Given the description of an element on the screen output the (x, y) to click on. 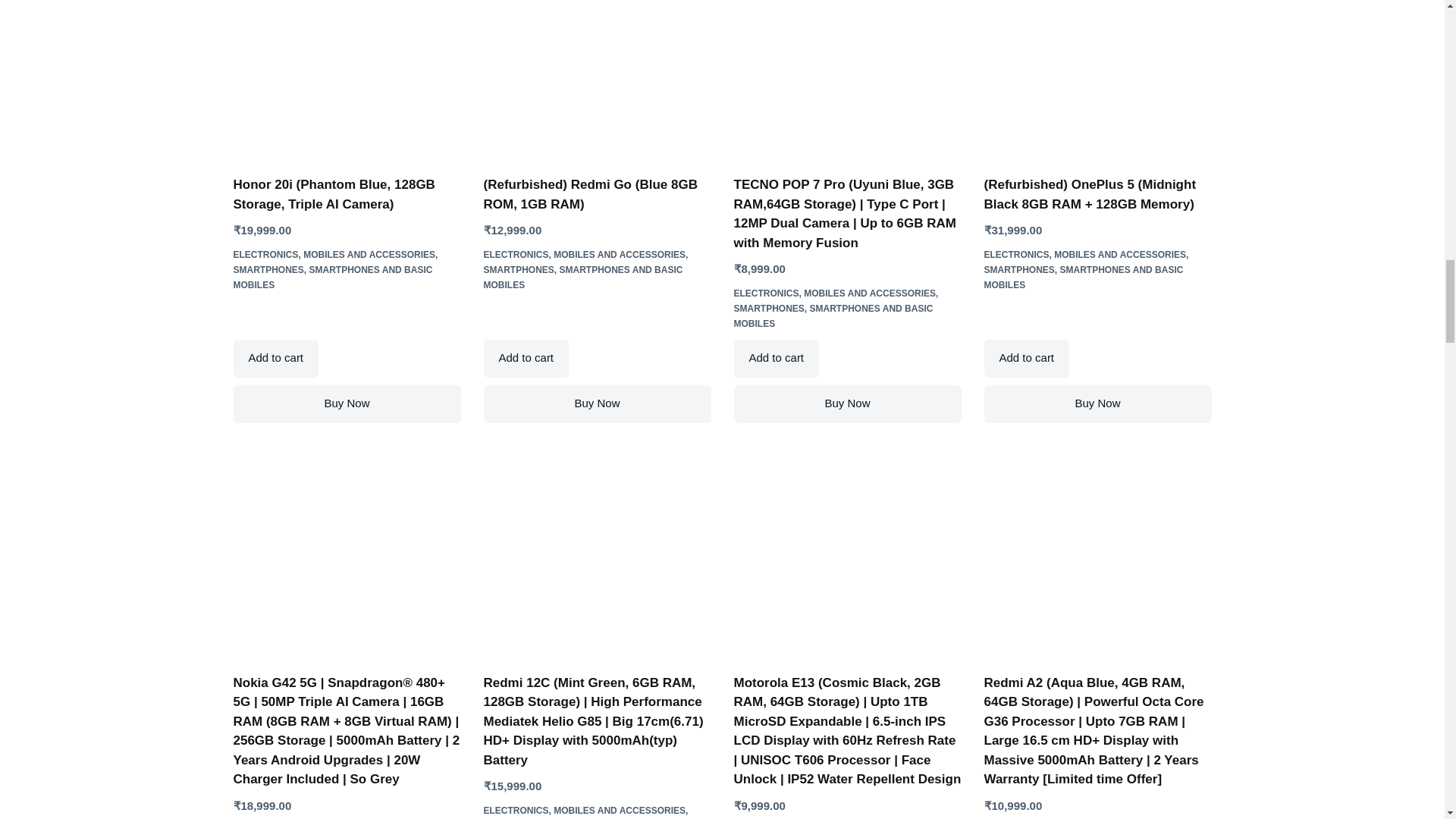
Refurbished-OnePlus-5-Midnight-Black-8GB-RAM-128GB-Memory (1097, 87)
Refurbished-Redmi-Go-Blue-8GB-ROM-1GB-RAM (597, 87)
Honor-20i-Phantom-Blue-128GB-Storage-Triple-AI-Camera (346, 87)
